Given the description of an element on the screen output the (x, y) to click on. 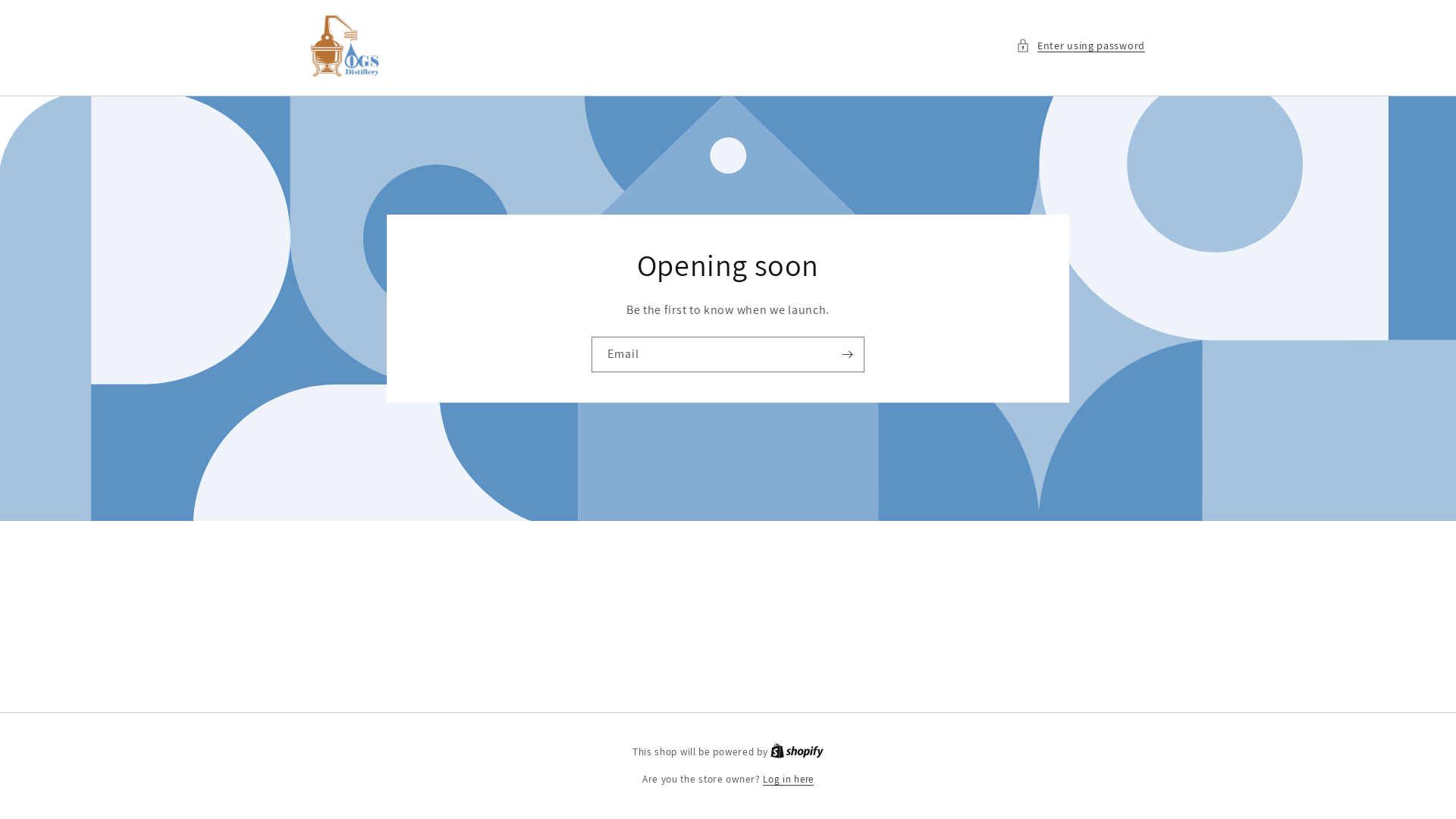
Log in here Element type: text (787, 779)
